Given the description of an element on the screen output the (x, y) to click on. 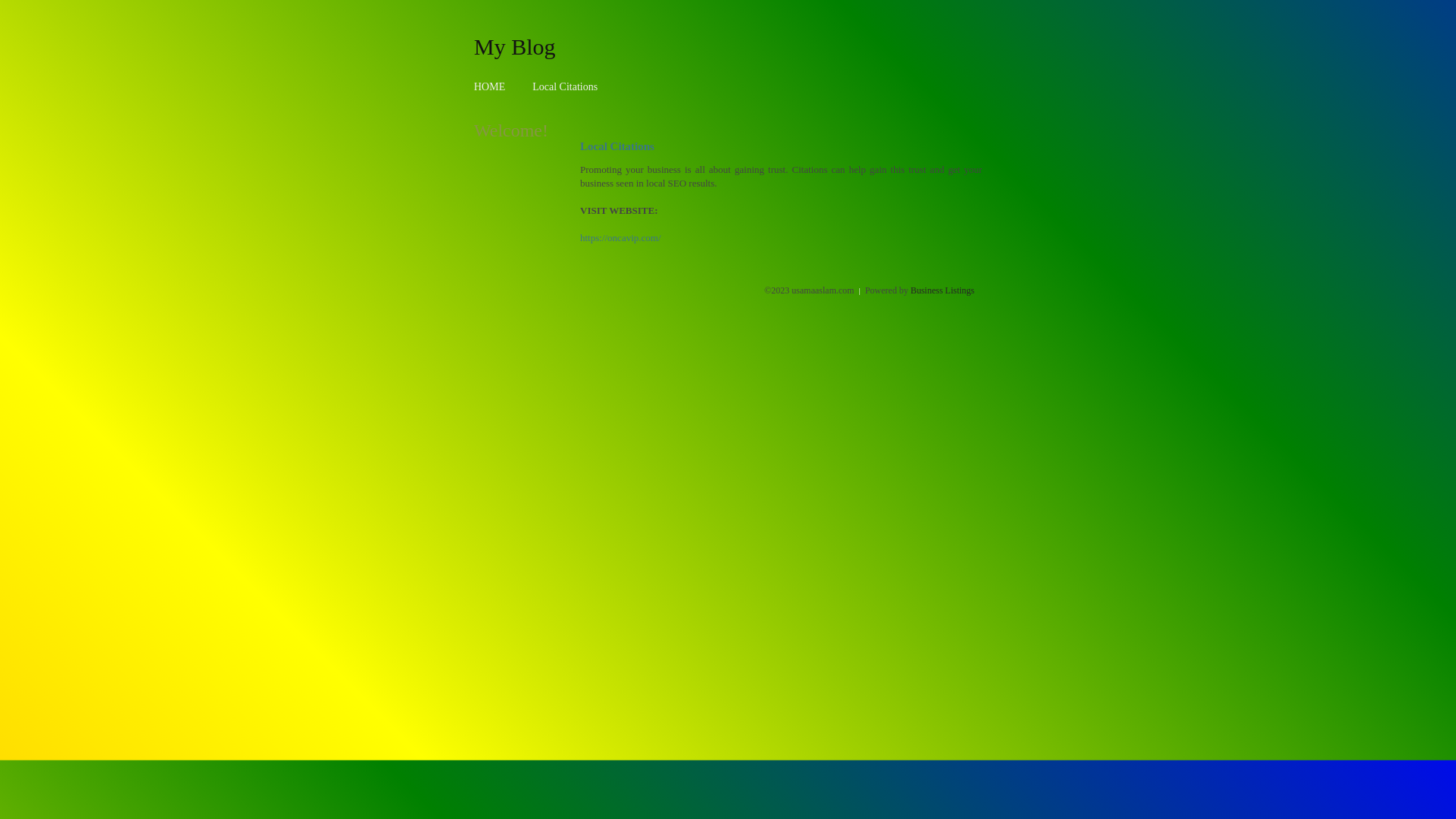
https://oncavip.com/ Element type: text (620, 237)
Local Citations Element type: text (564, 86)
Business Listings Element type: text (942, 290)
HOME Element type: text (489, 86)
My Blog Element type: text (514, 46)
